Given the description of an element on the screen output the (x, y) to click on. 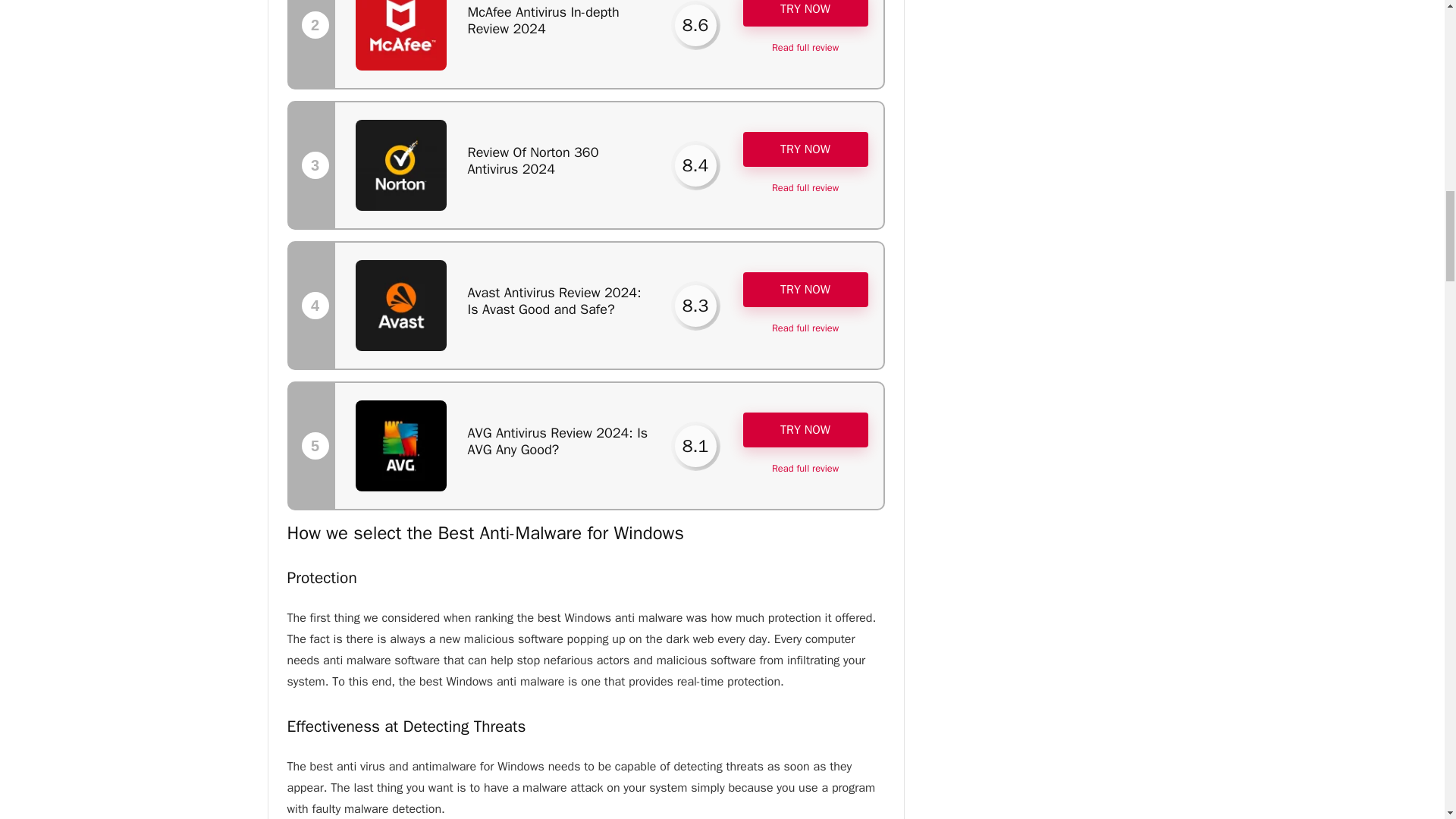
Review Of Norton 360 Antivirus 2024 (532, 160)
McAfee Antivirus In-depth Review 2024 (542, 20)
Read full review (804, 47)
TRY NOW (804, 13)
